Given the description of an element on the screen output the (x, y) to click on. 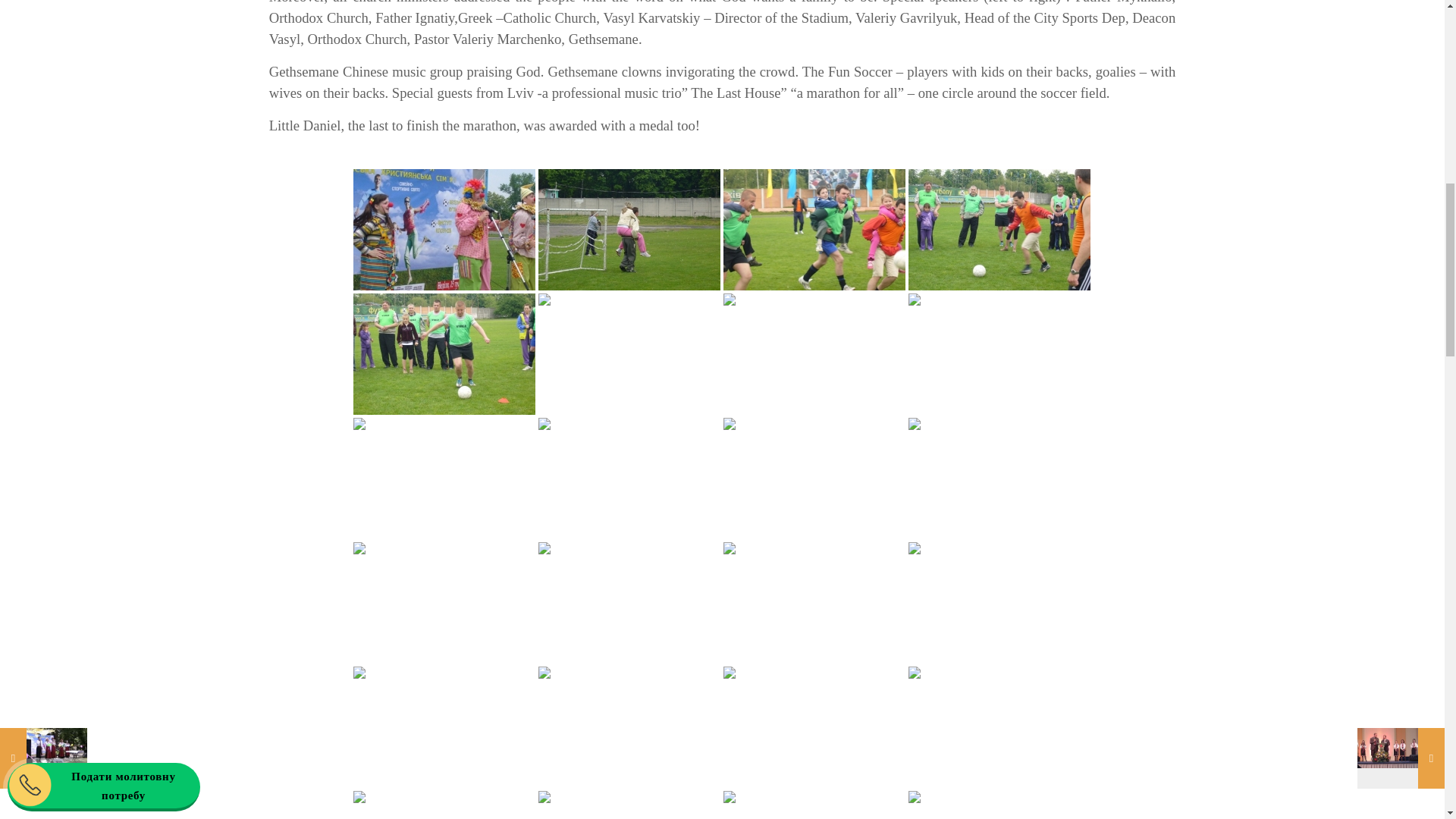
P1110063 (814, 229)
P1110078 (444, 353)
P1110111 (814, 353)
P1100968 (444, 229)
P1110033 (629, 229)
P1110074 (999, 229)
P1110108 (629, 353)
